Given the description of an element on the screen output the (x, y) to click on. 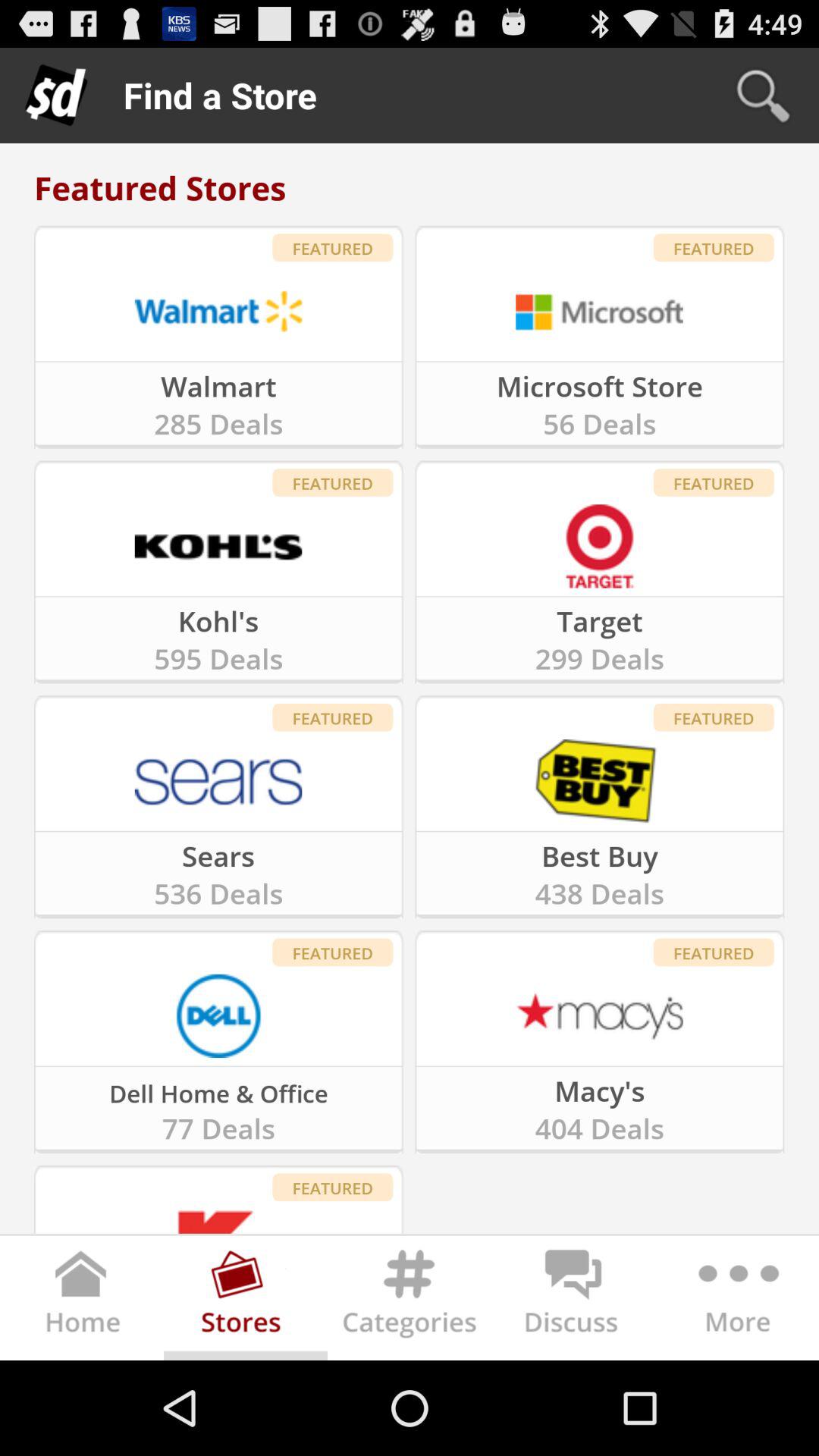
opens categories tab (409, 1301)
